Given the description of an element on the screen output the (x, y) to click on. 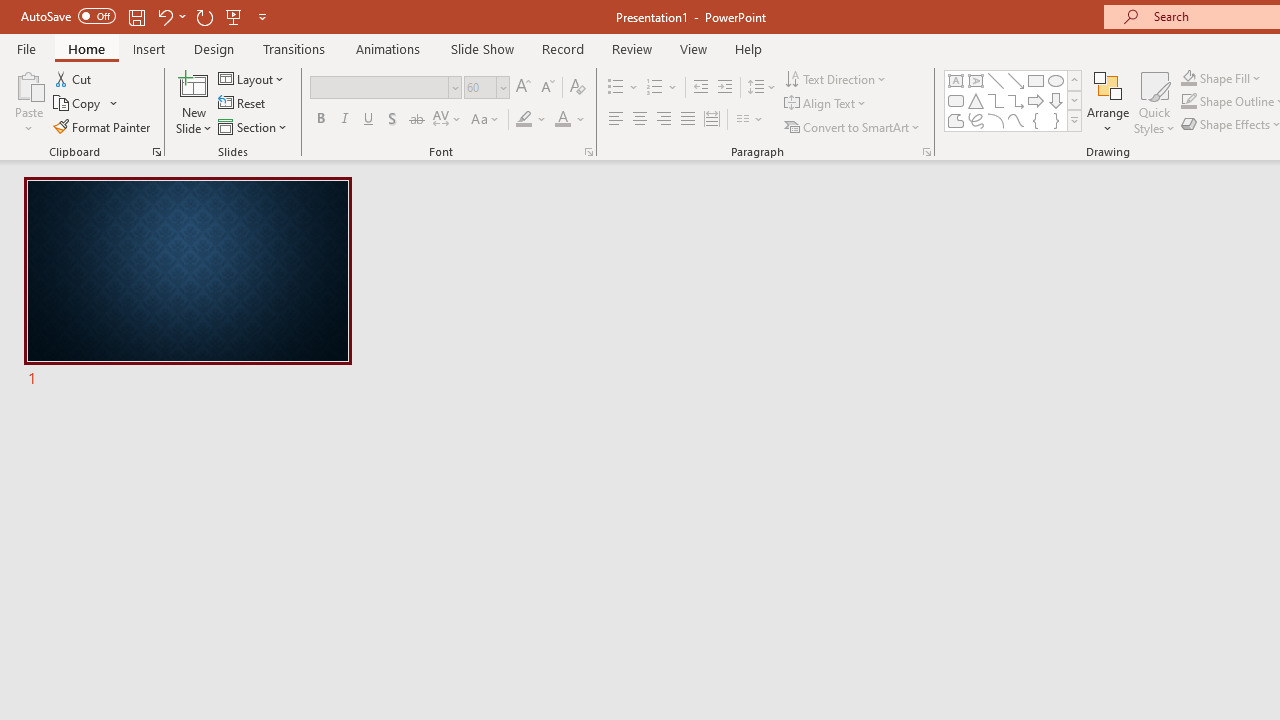
Cut (73, 78)
Connector: Elbow Arrow (1016, 100)
Arc (995, 120)
Change Case (486, 119)
Arrange (1108, 102)
Increase Indent (725, 87)
Vertical Text Box (975, 80)
